Given the description of an element on the screen output the (x, y) to click on. 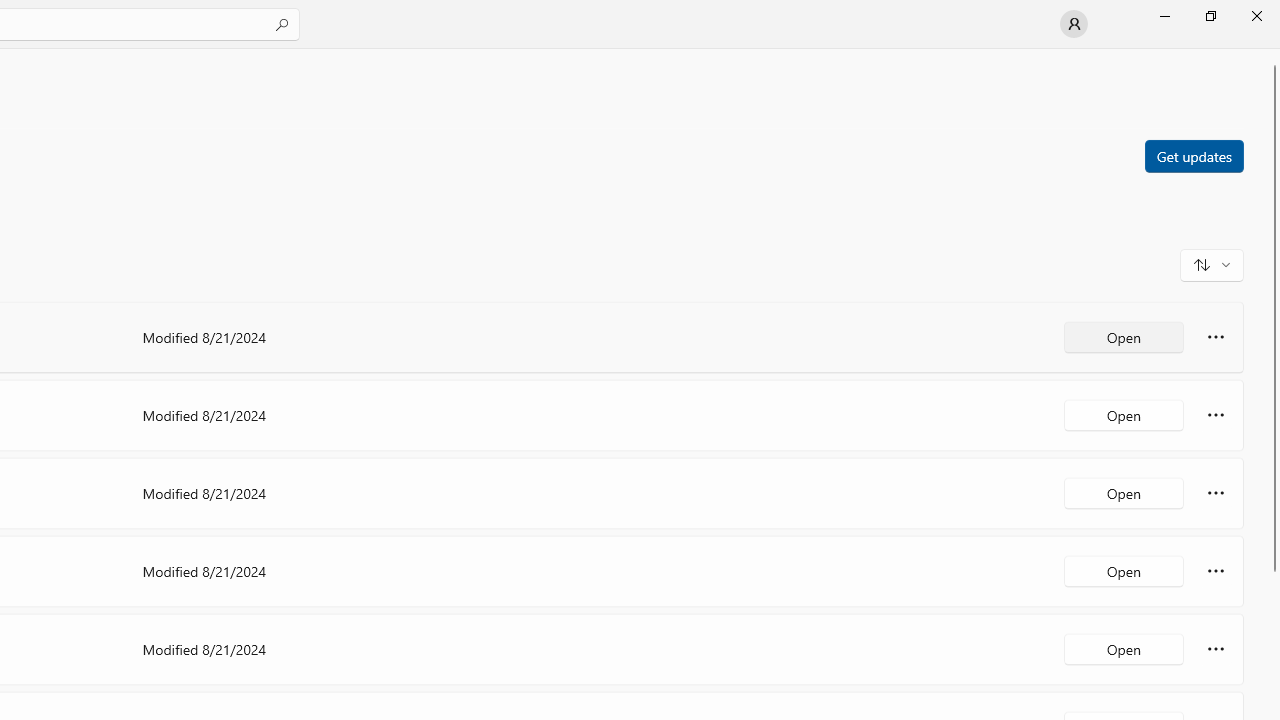
Get updates (1193, 155)
Vertical Small Decrease (1272, 55)
Restore Microsoft Store (1210, 15)
Close Microsoft Store (1256, 15)
More options (1215, 648)
Open (1123, 648)
Minimize Microsoft Store (1164, 15)
User profile (1073, 24)
Sort and filter (1212, 263)
